Given the description of an element on the screen output the (x, y) to click on. 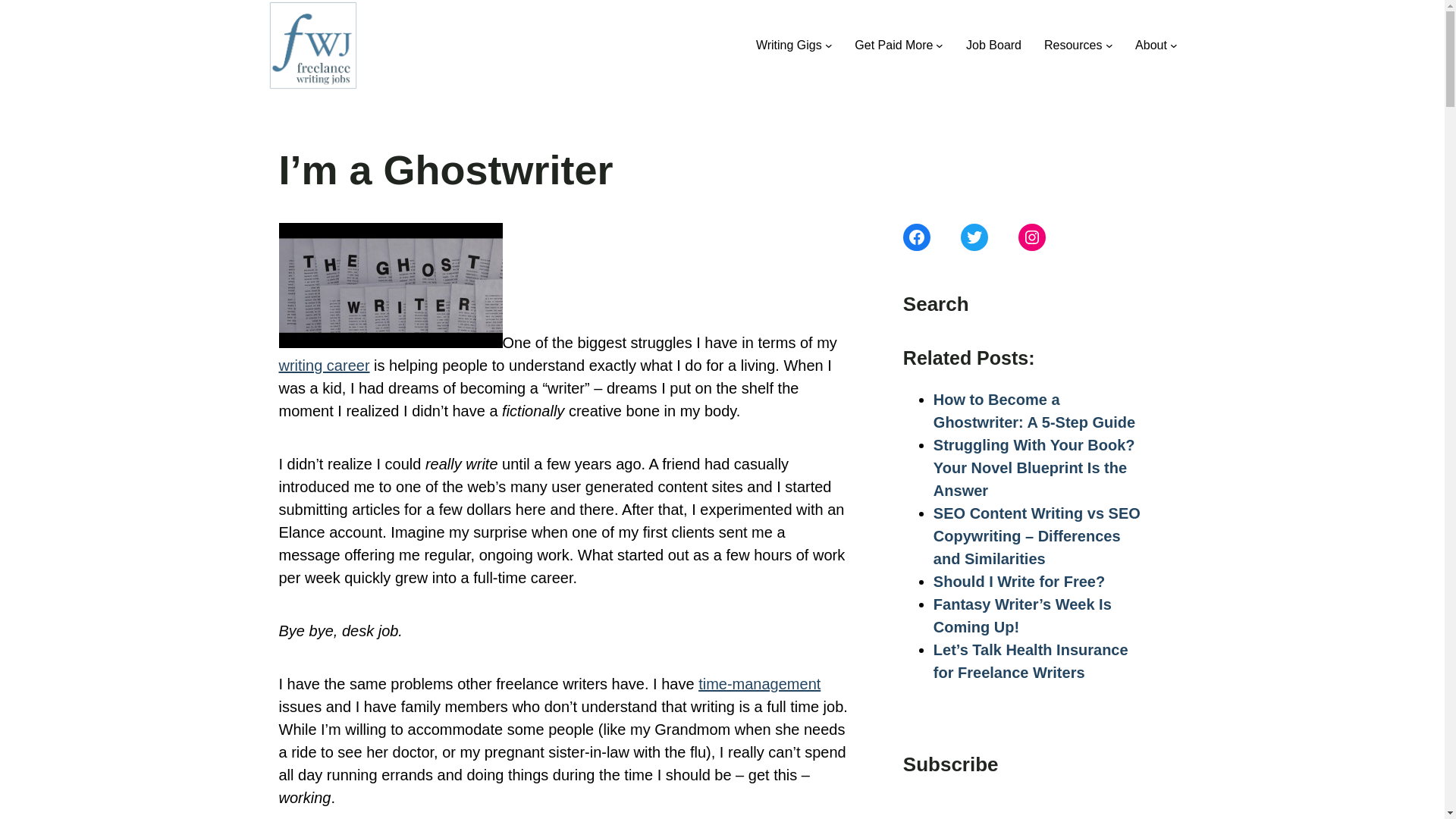
writing career (324, 365)
Should I Write for Free? (1019, 581)
About (1151, 45)
Writing Gigs (788, 45)
How to Become a Ghostwriter: A 5-Step Guide (1034, 410)
Resources (1072, 45)
Get Paid More (893, 45)
Job Board (994, 45)
time-management (759, 683)
The Ghostwriter (390, 285)
